Given the description of an element on the screen output the (x, y) to click on. 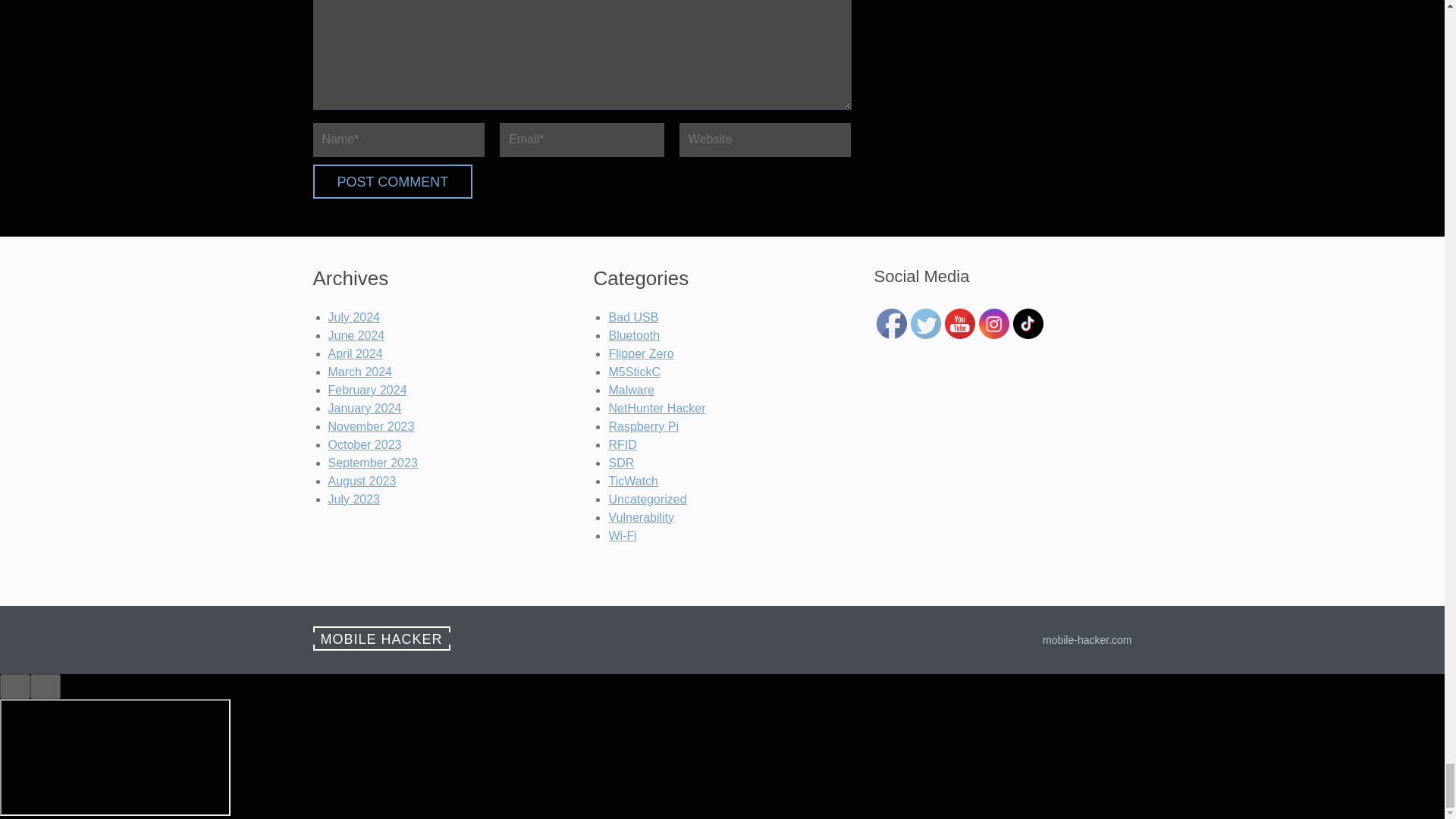
YouTube (959, 323)
Facebook (891, 323)
Twitter (925, 323)
Post Comment (392, 181)
